Given the description of an element on the screen output the (x, y) to click on. 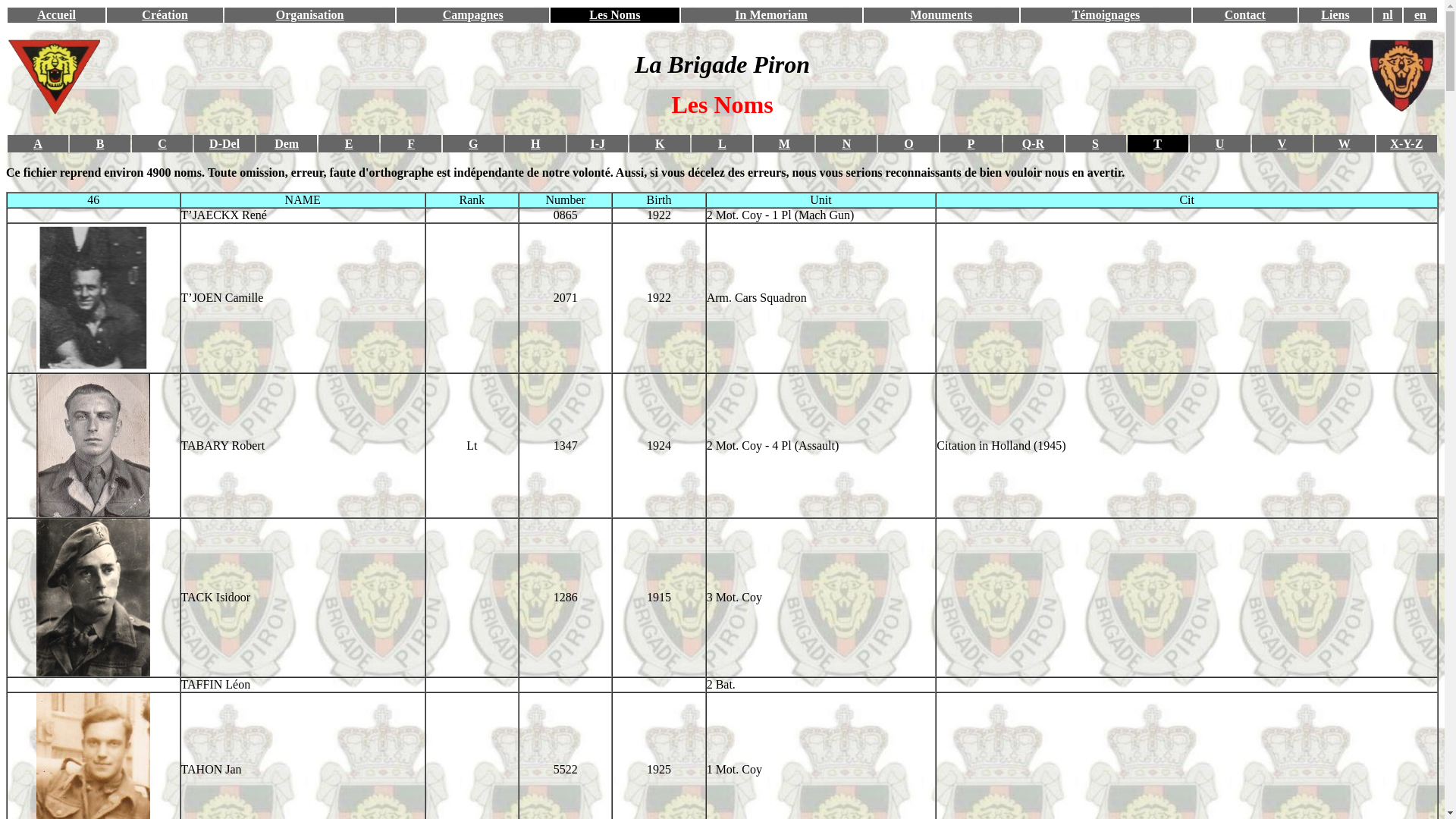
Dem Element type: text (286, 142)
H Element type: text (534, 142)
nl Element type: text (1387, 14)
K Element type: text (659, 142)
Contact Element type: text (1244, 14)
E Element type: text (349, 142)
B Element type: text (100, 142)
Organisation Element type: text (310, 14)
L Element type: text (722, 142)
Accueil Element type: text (56, 14)
F Element type: text (410, 142)
O Element type: text (908, 142)
Les Noms Element type: text (614, 14)
M Element type: text (784, 142)
In Memoriam Element type: text (770, 14)
U Element type: text (1219, 142)
D-Del Element type: text (224, 142)
Q-R Element type: text (1033, 142)
G Element type: text (472, 142)
A Element type: text (37, 142)
N Element type: text (846, 142)
W Element type: text (1344, 142)
T Element type: text (1157, 142)
C Element type: text (161, 142)
en Element type: text (1420, 14)
P Element type: text (971, 142)
Monuments Element type: text (941, 14)
I-J Element type: text (597, 142)
V Element type: text (1281, 142)
S Element type: text (1095, 142)
Liens Element type: text (1335, 14)
X-Y-Z Element type: text (1406, 142)
Campagnes Element type: text (472, 14)
